Given the description of an element on the screen output the (x, y) to click on. 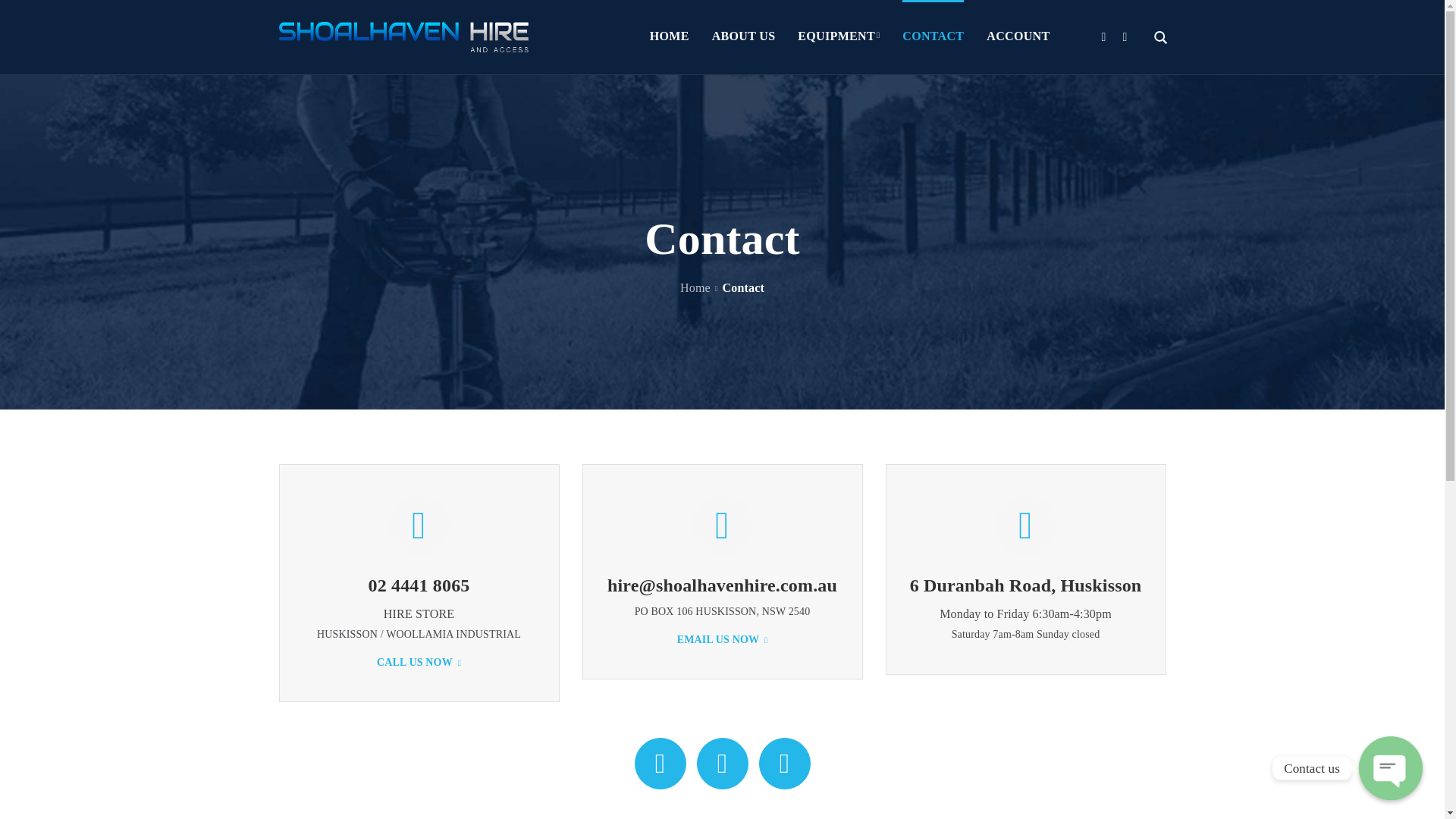
Home Element type: text (695, 287)
ABOUT US Element type: text (743, 37)
Facebook Element type: hover (659, 763)
CALL US NOW Element type: text (418, 662)
Web Element type: hover (783, 763)
EMAIL US NOW Element type: text (722, 639)
Instagram Element type: hover (721, 763)
EQUIPMENT Element type: text (838, 37)
HOME Element type: text (669, 37)
Search Element type: text (1110, 110)
ACCOUNT Element type: text (1017, 37)
CONTACT Element type: text (932, 37)
Search Element type: text (1110, 36)
